Given the description of an element on the screen output the (x, y) to click on. 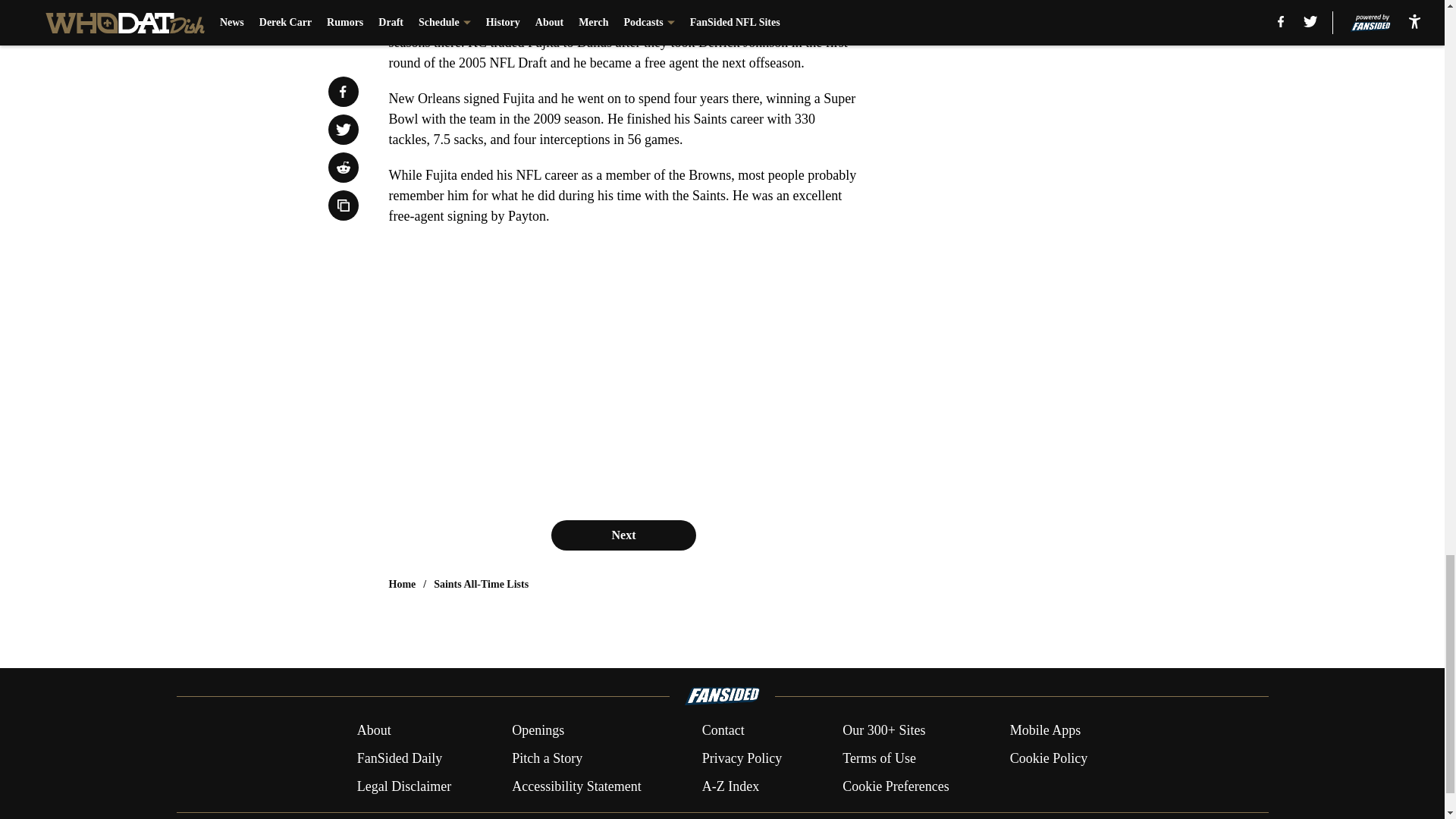
Mobile Apps (1045, 730)
Home (401, 584)
FanSided Daily (399, 758)
Pitch a Story (547, 758)
Saints All-Time Lists (480, 584)
Next (622, 535)
Terms of Use (879, 758)
Privacy Policy (742, 758)
About (373, 730)
Contact (722, 730)
